Given the description of an element on the screen output the (x, y) to click on. 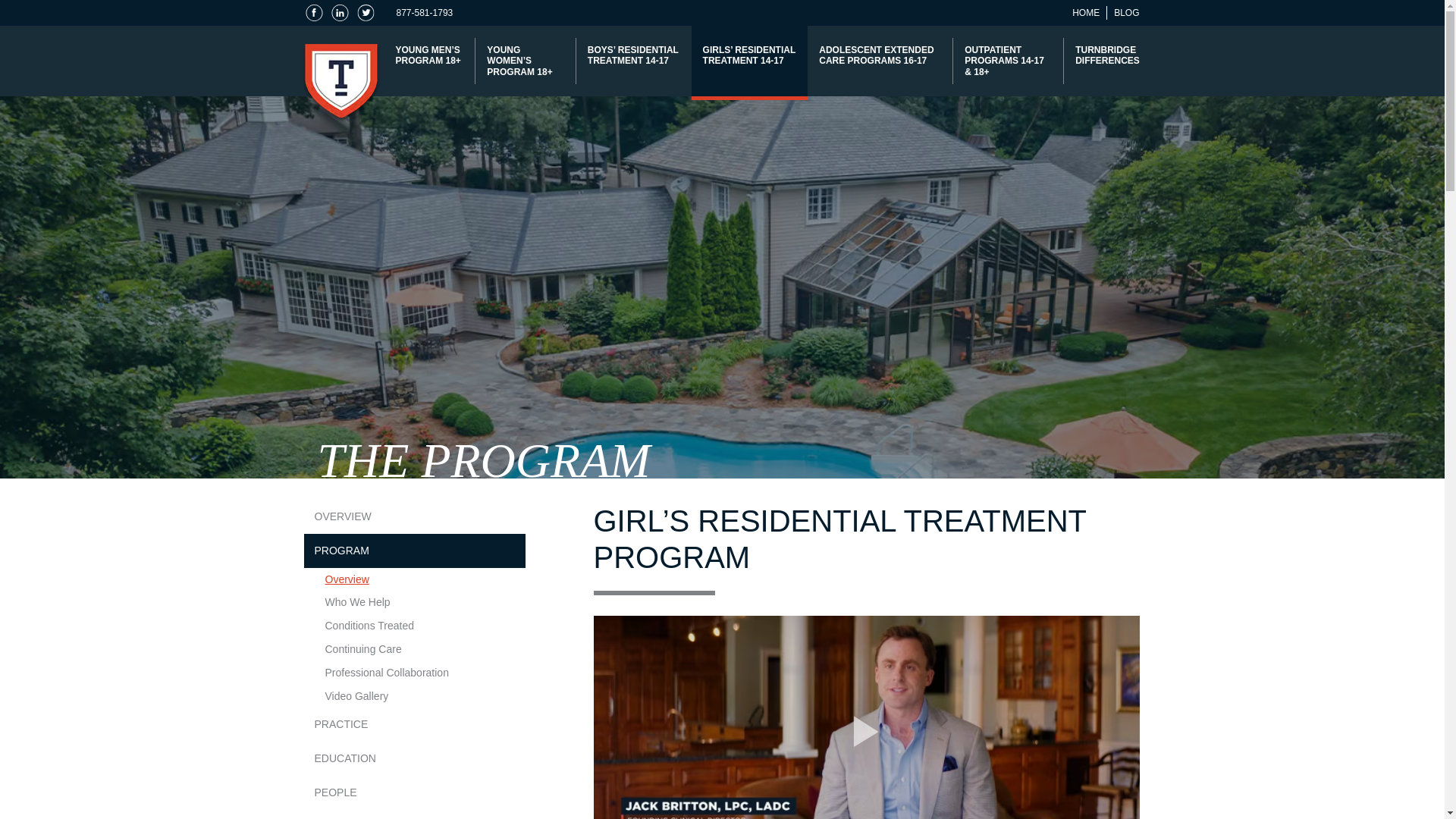
TWITTER (365, 12)
LINKEDIN (338, 12)
FACEBOOK (312, 12)
877-581-1793 (424, 12)
BLOG (1125, 12)
LINKEDIN (338, 12)
FACEBOOK (312, 12)
TWITTER (364, 12)
HOME (1085, 12)
